Given the description of an element on the screen output the (x, y) to click on. 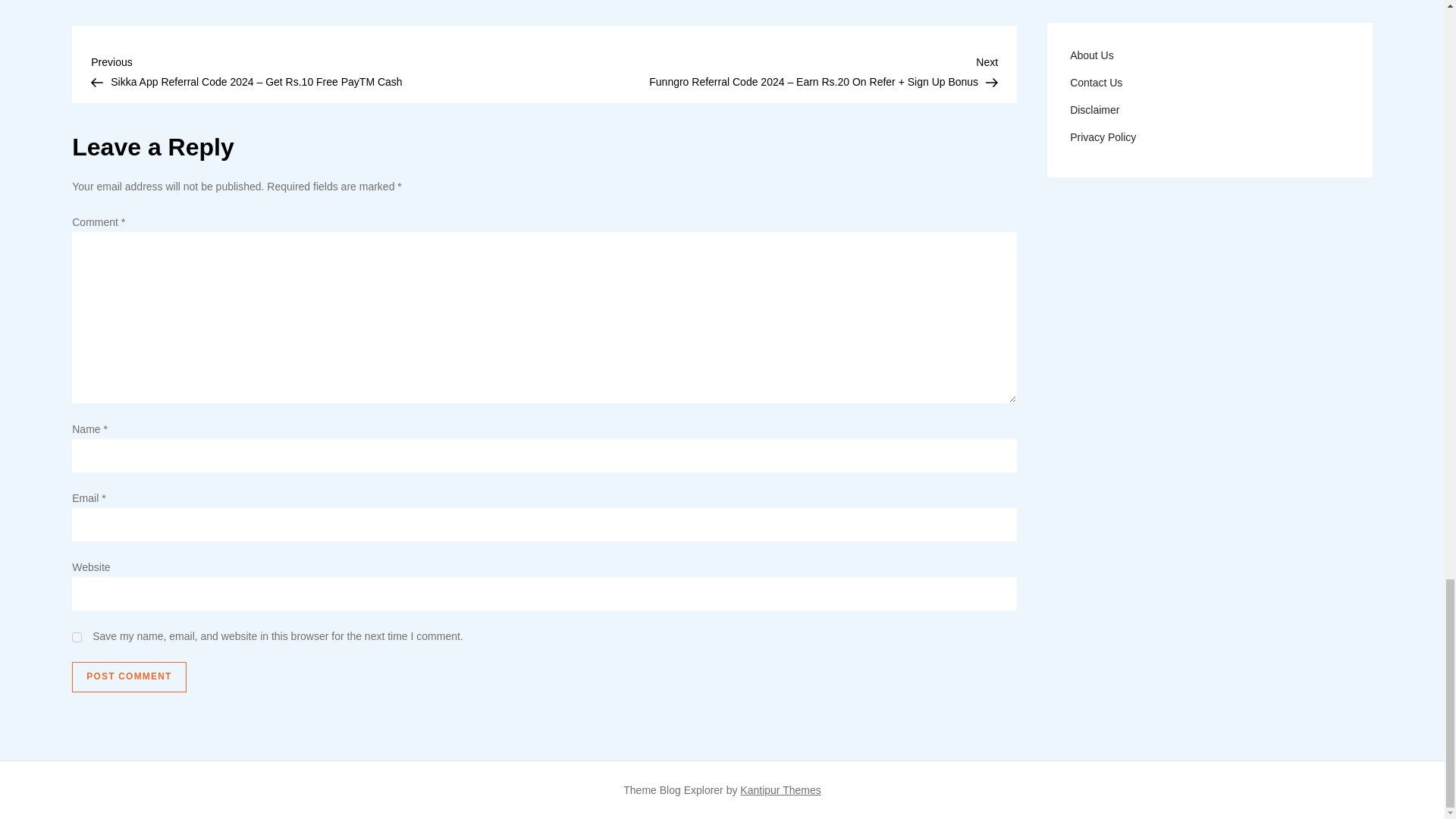
Kantipur Themes (780, 789)
Post Comment (128, 676)
yes (76, 637)
Post Comment (128, 676)
